Given the description of an element on the screen output the (x, y) to click on. 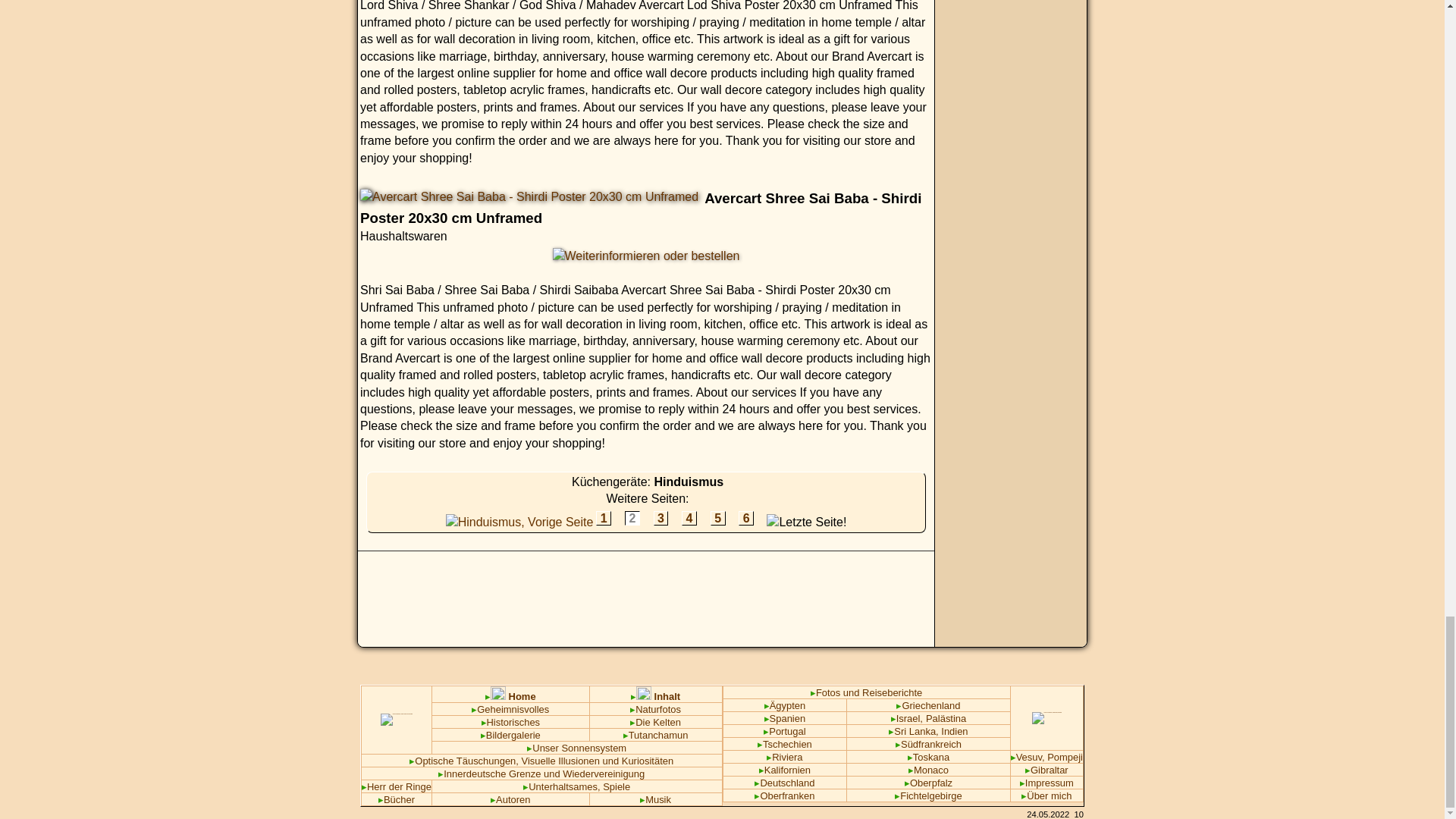
 4  (689, 518)
Avercart Shree Sai Baba - Shirdi Poster 20x30 cm Unframed (528, 197)
Weiterinformieren oder bestellen (646, 256)
 6  (746, 518)
 5  (717, 518)
 3  (660, 518)
 1  (603, 518)
